Given the description of an element on the screen output the (x, y) to click on. 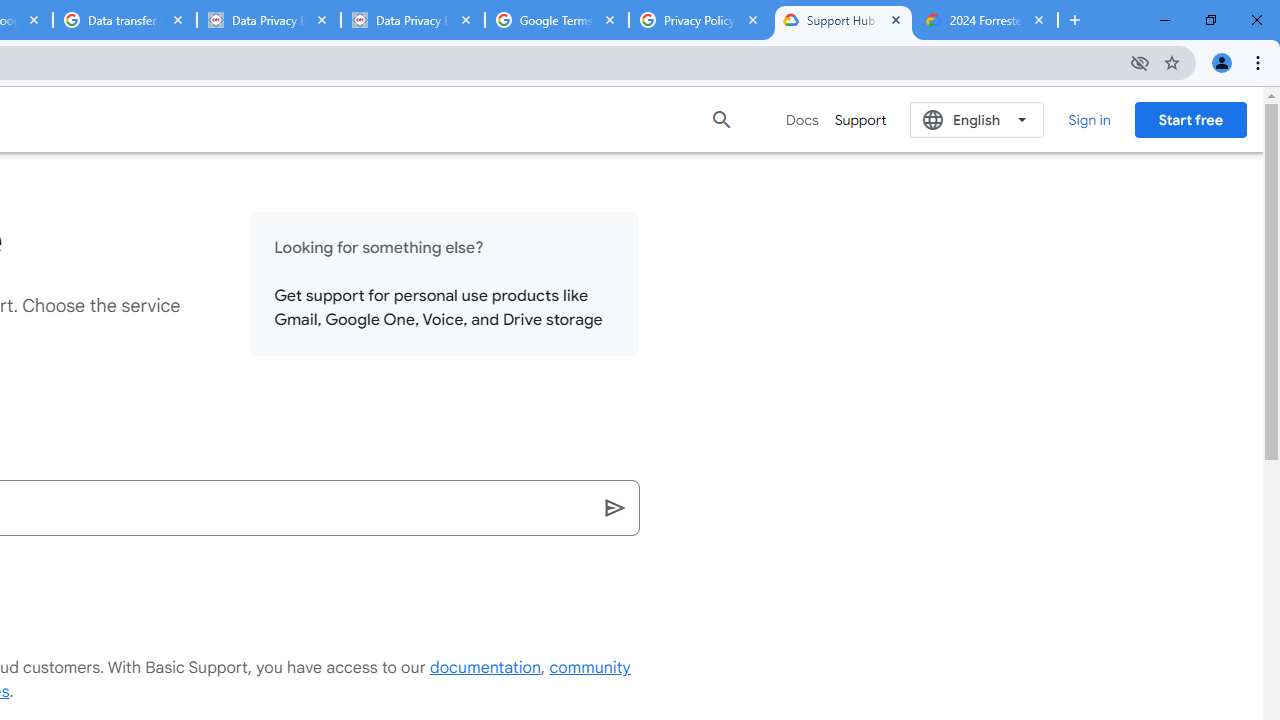
Data Privacy Framework (412, 20)
Data Privacy Framework (268, 20)
